Given the description of an element on the screen output the (x, y) to click on. 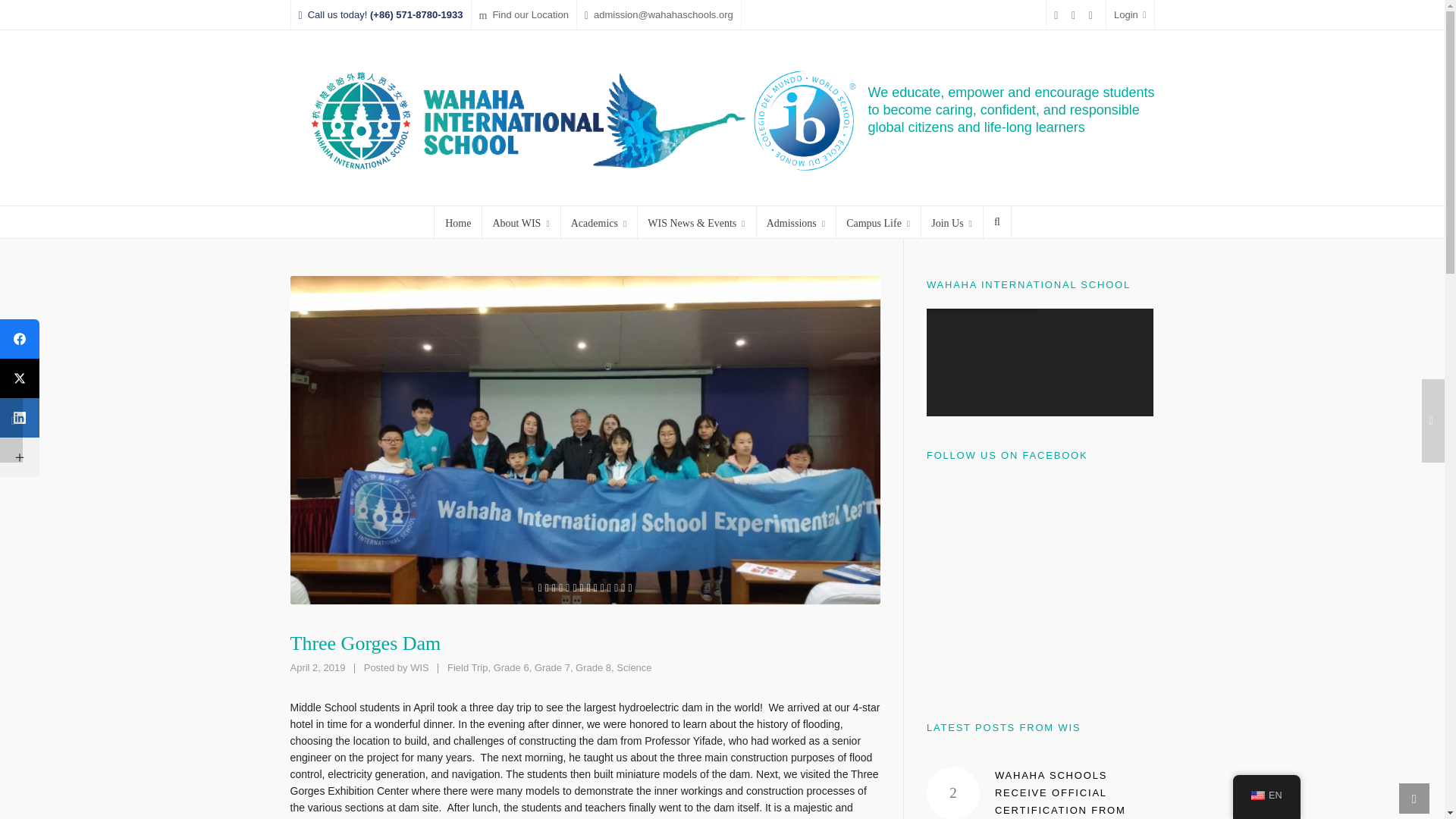
Posts by WIS (419, 667)
Wahaha Schools Receive Official Certification from Cognia! (952, 792)
Wahaha Schools Receive Official Certification from Cognia! (1059, 794)
Find our Location (524, 15)
